Given the description of an element on the screen output the (x, y) to click on. 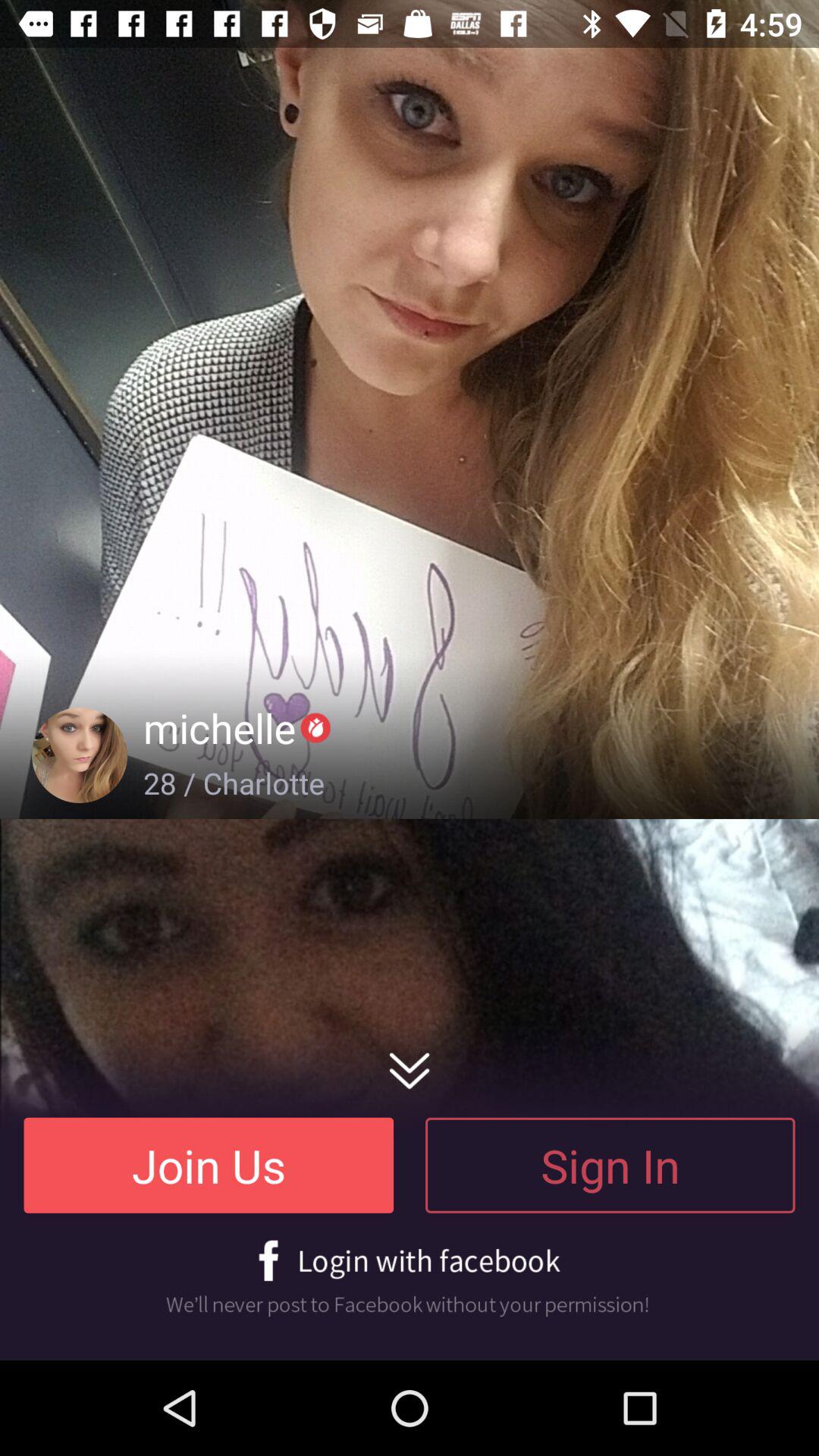
login facebook (409, 1278)
